Given the description of an element on the screen output the (x, y) to click on. 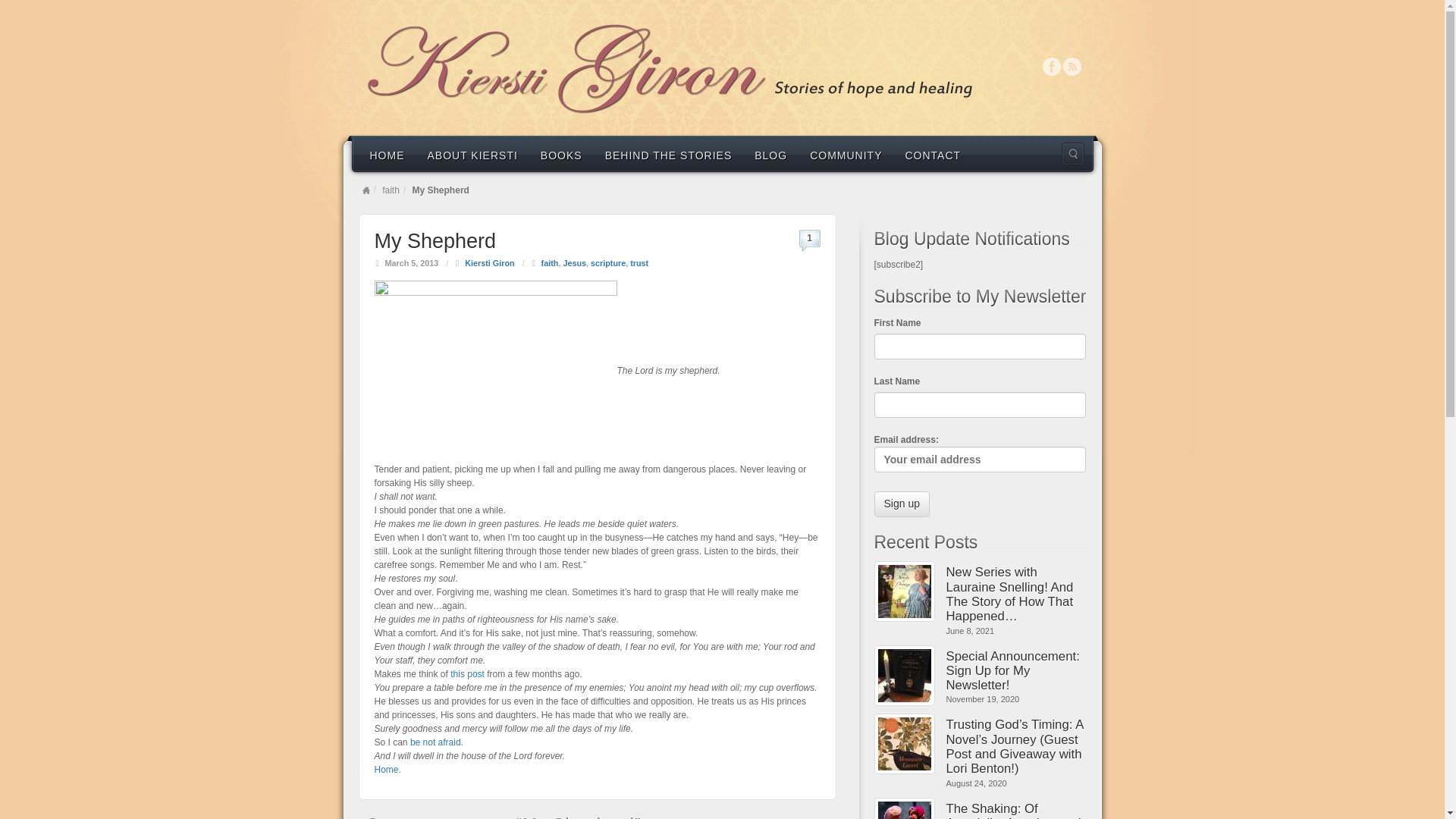
Sign up (900, 503)
Search the site... (1072, 153)
scripture (608, 262)
Facebook (1051, 66)
Home. (387, 769)
RSS (1071, 66)
BLOG (769, 154)
1 (809, 237)
faith (389, 190)
COMMUNITY (845, 154)
trust (638, 262)
Jesus (574, 262)
CONTACT (932, 154)
